Given the description of an element on the screen output the (x, y) to click on. 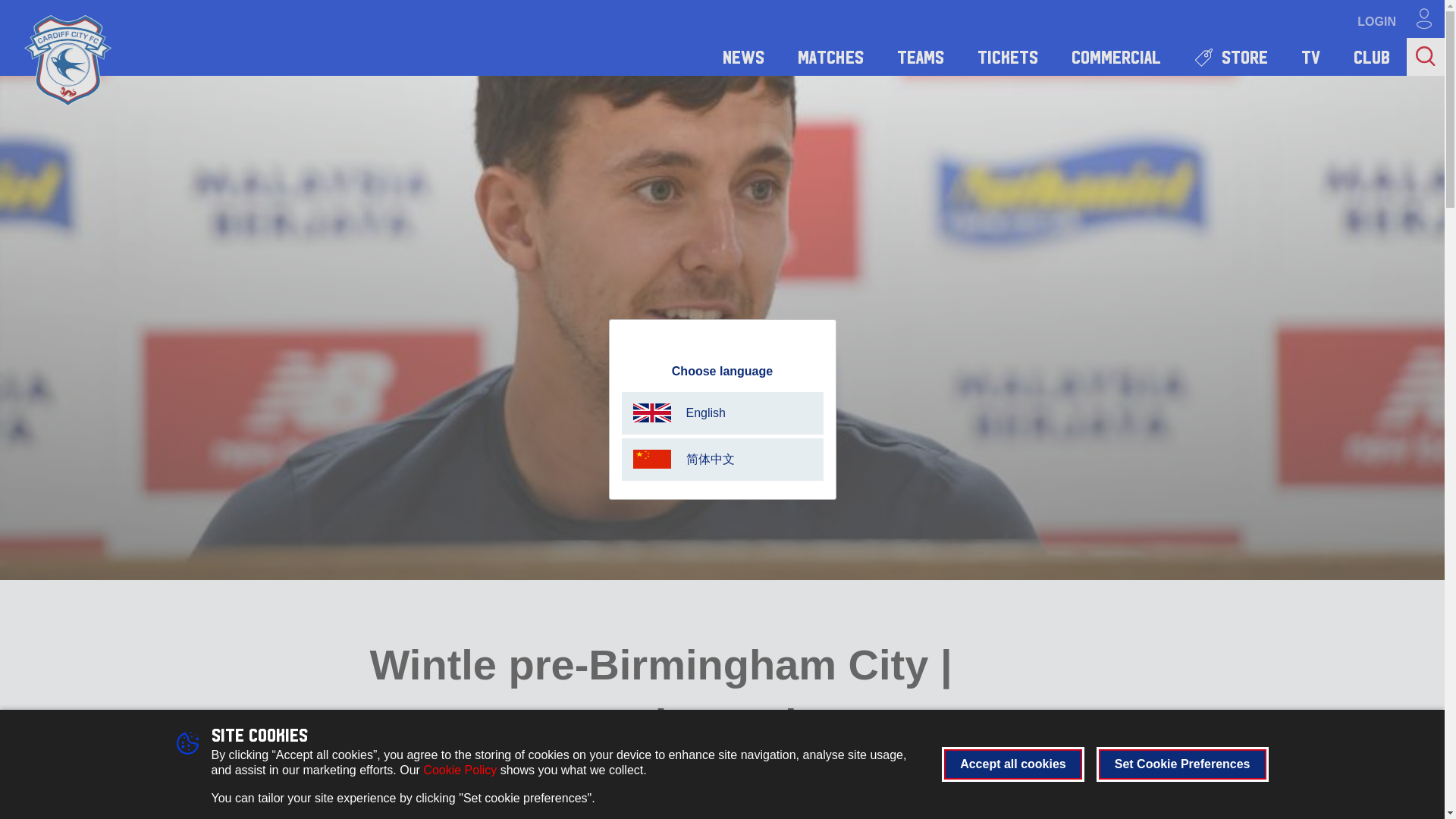
NEWS (743, 56)
Close (823, 335)
STORE (1230, 56)
TEAMS (920, 56)
MATCHES (830, 56)
COMMERCIAL (1115, 56)
TICKETS (1007, 56)
